Given the description of an element on the screen output the (x, y) to click on. 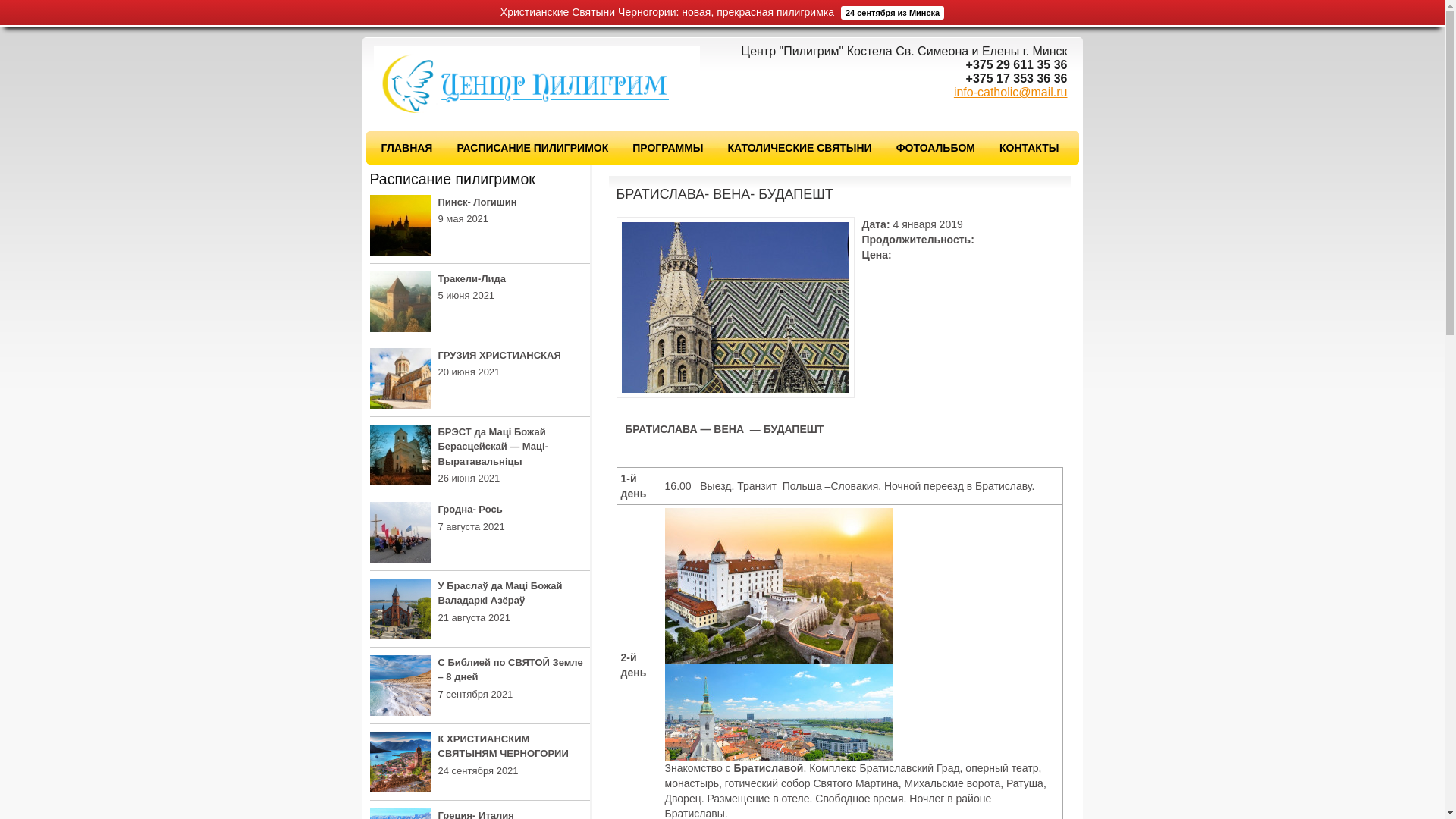
info-catholic@mail.ru Element type: text (1010, 91)
